Given the description of an element on the screen output the (x, y) to click on. 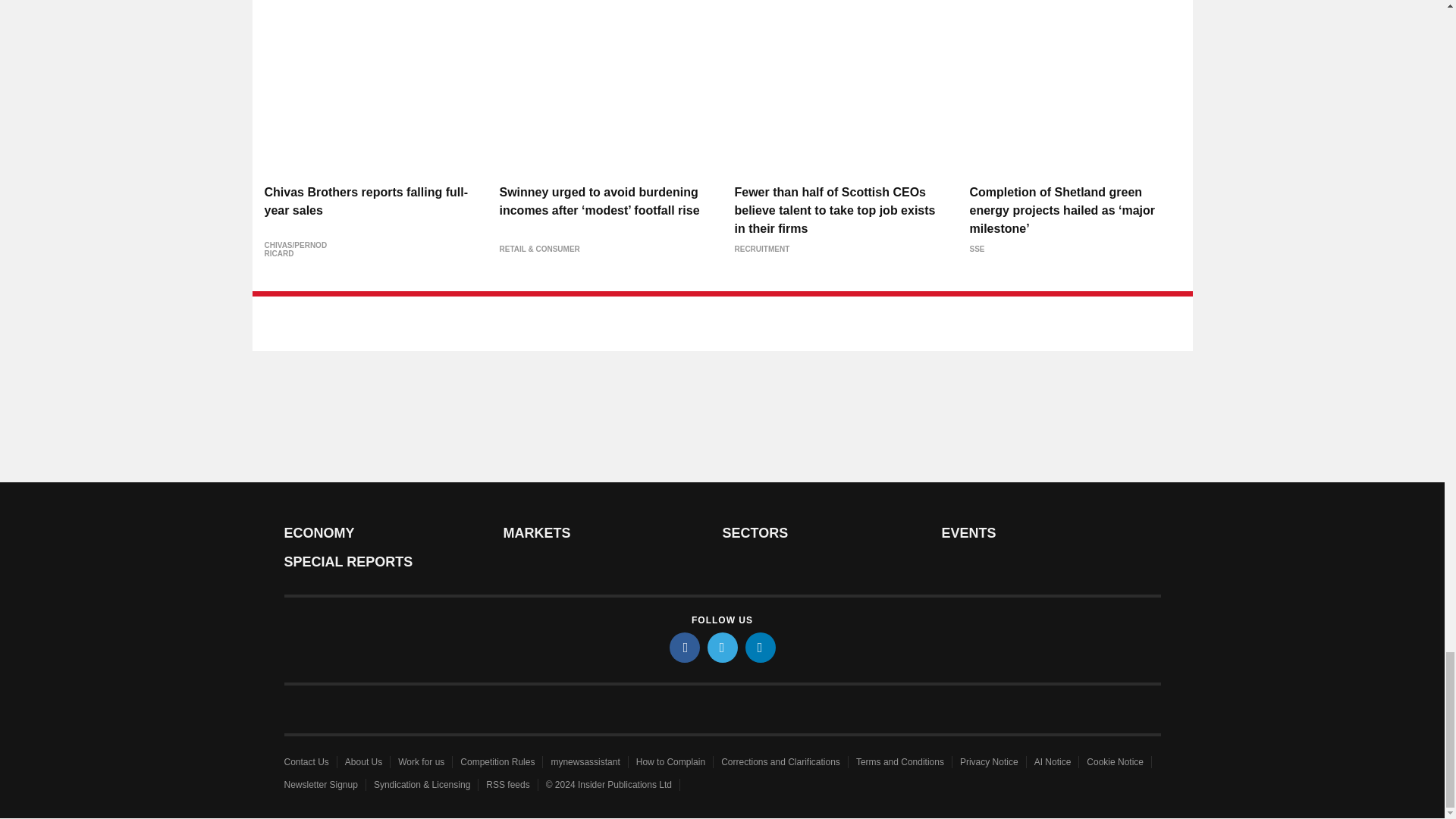
facebook (683, 647)
linkedin (759, 647)
twitter (721, 647)
